Given the description of an element on the screen output the (x, y) to click on. 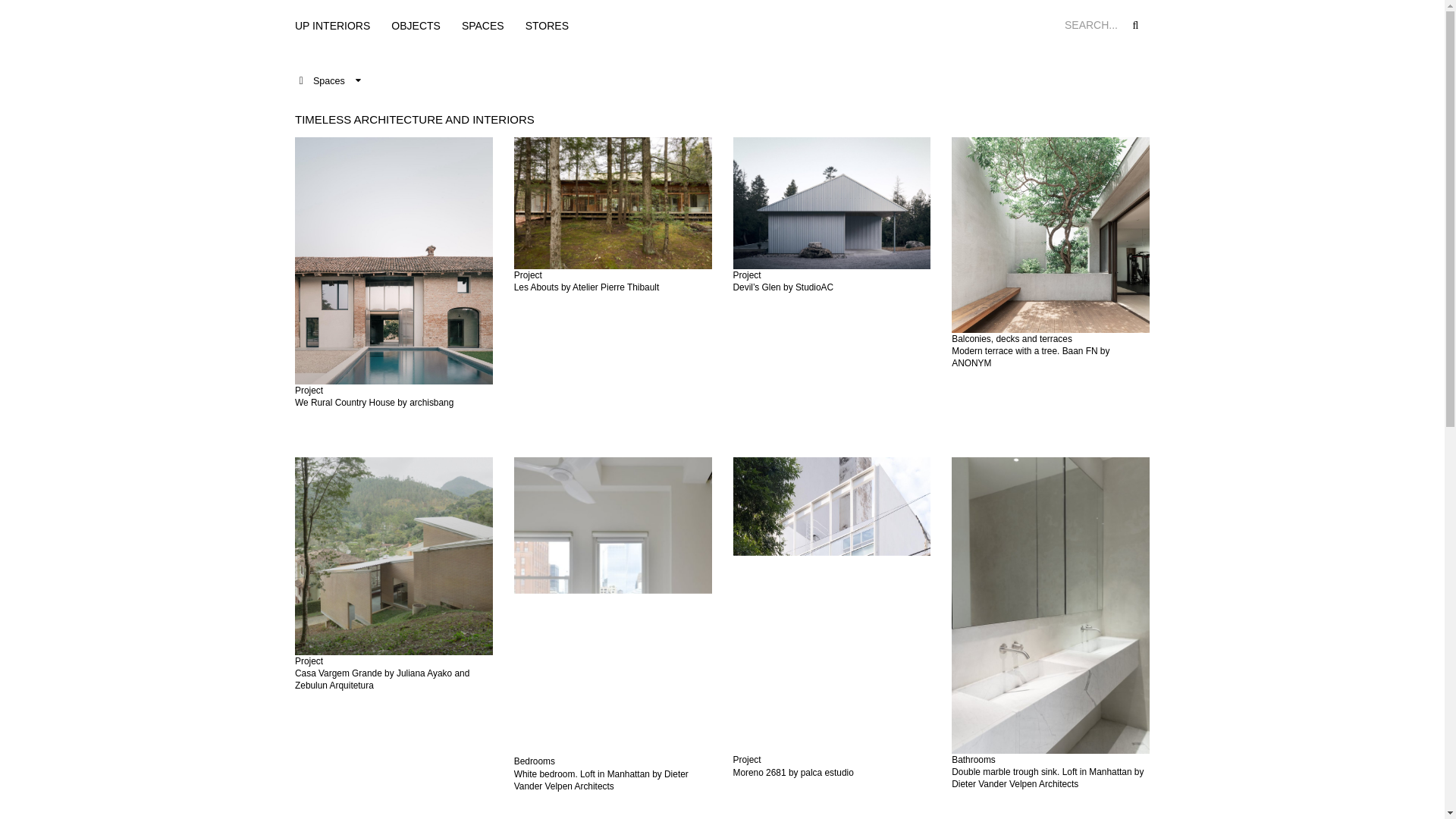
Atelier Pierre Thibault (615, 286)
SPACES (483, 25)
Project (309, 389)
OBJECTS (415, 25)
STORES (547, 25)
Project (527, 275)
Project (746, 275)
Les Abouts (536, 286)
UP INTERIORS (331, 25)
We Rural Country House (344, 402)
